Given the description of an element on the screen output the (x, y) to click on. 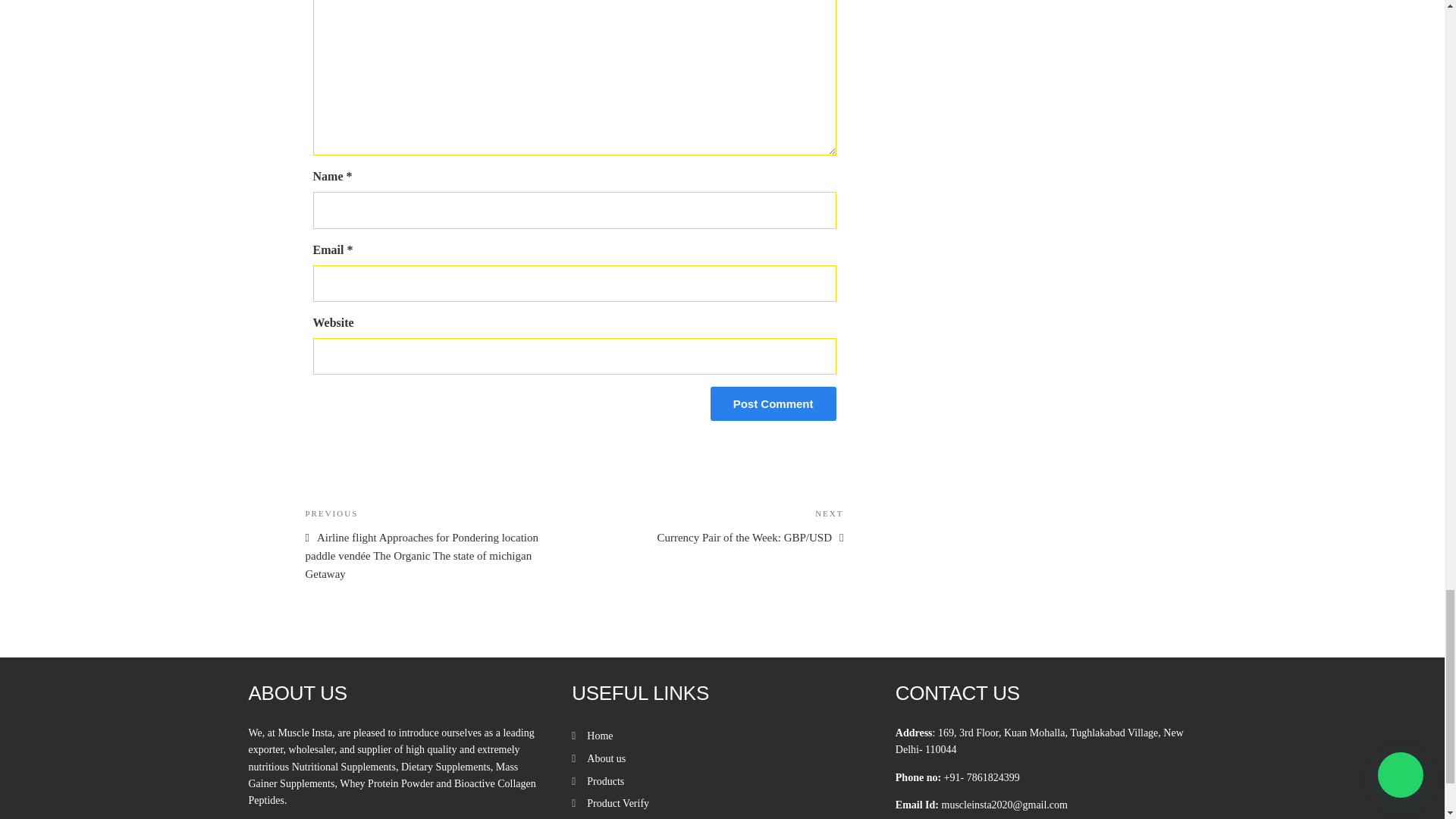
Post Comment (772, 403)
Post Comment (772, 403)
Product Verify (617, 803)
Home (599, 736)
Products (605, 781)
About us (606, 758)
